Given the description of an element on the screen output the (x, y) to click on. 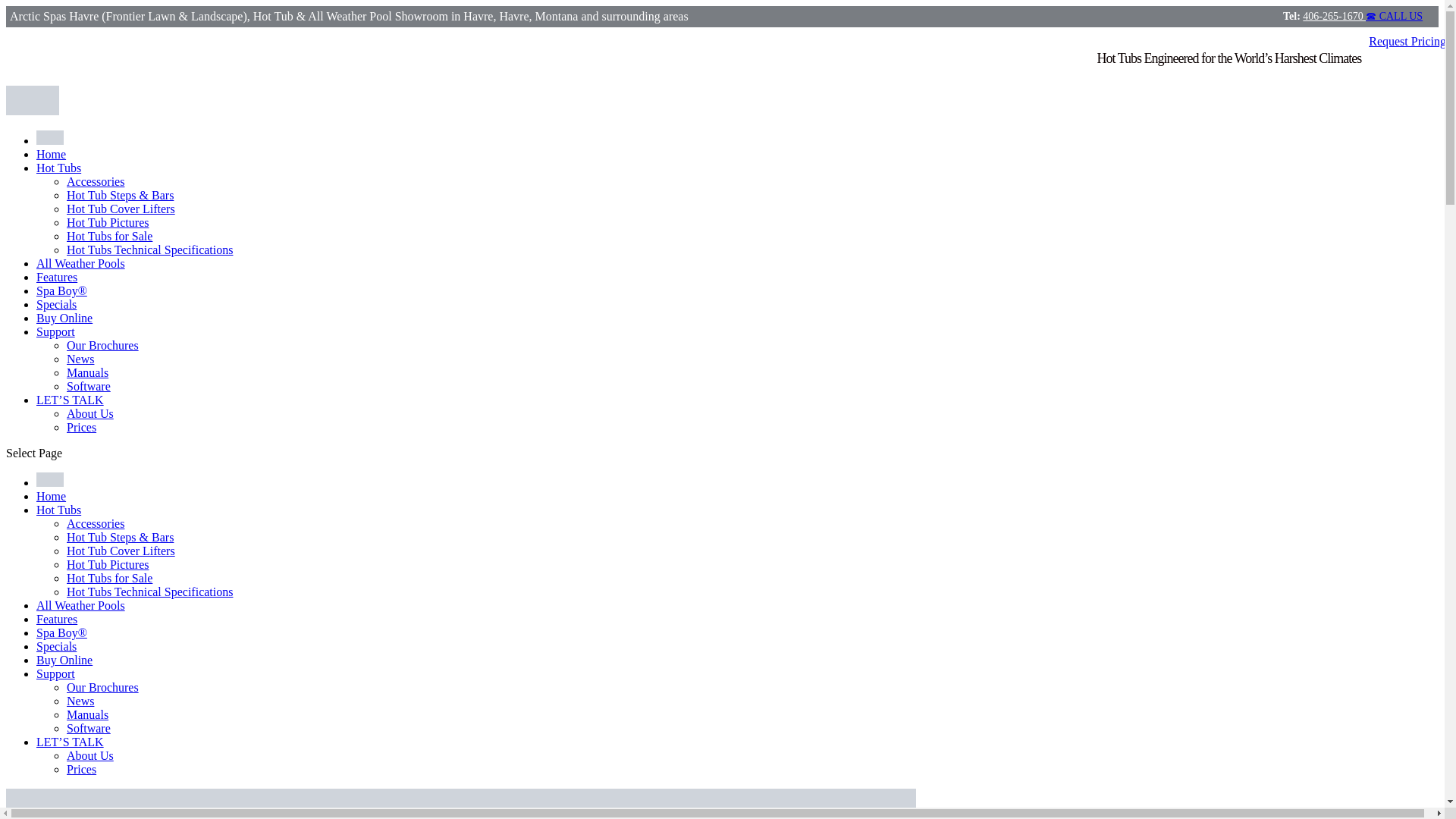
Features (56, 277)
Manuals (86, 372)
Software (88, 386)
News (80, 358)
Hot Tubs Technical Specifications (149, 249)
Prices (81, 427)
Our Brochures (102, 345)
Return to the home page (50, 154)
Hot Tub Cover Lifters (120, 550)
Hot Tubs (58, 509)
Features (56, 618)
Request Pricing (1406, 41)
All Weather Pools (80, 263)
All Weather Pools (80, 604)
Hot Tub Pictures (107, 222)
